Given the description of an element on the screen output the (x, y) to click on. 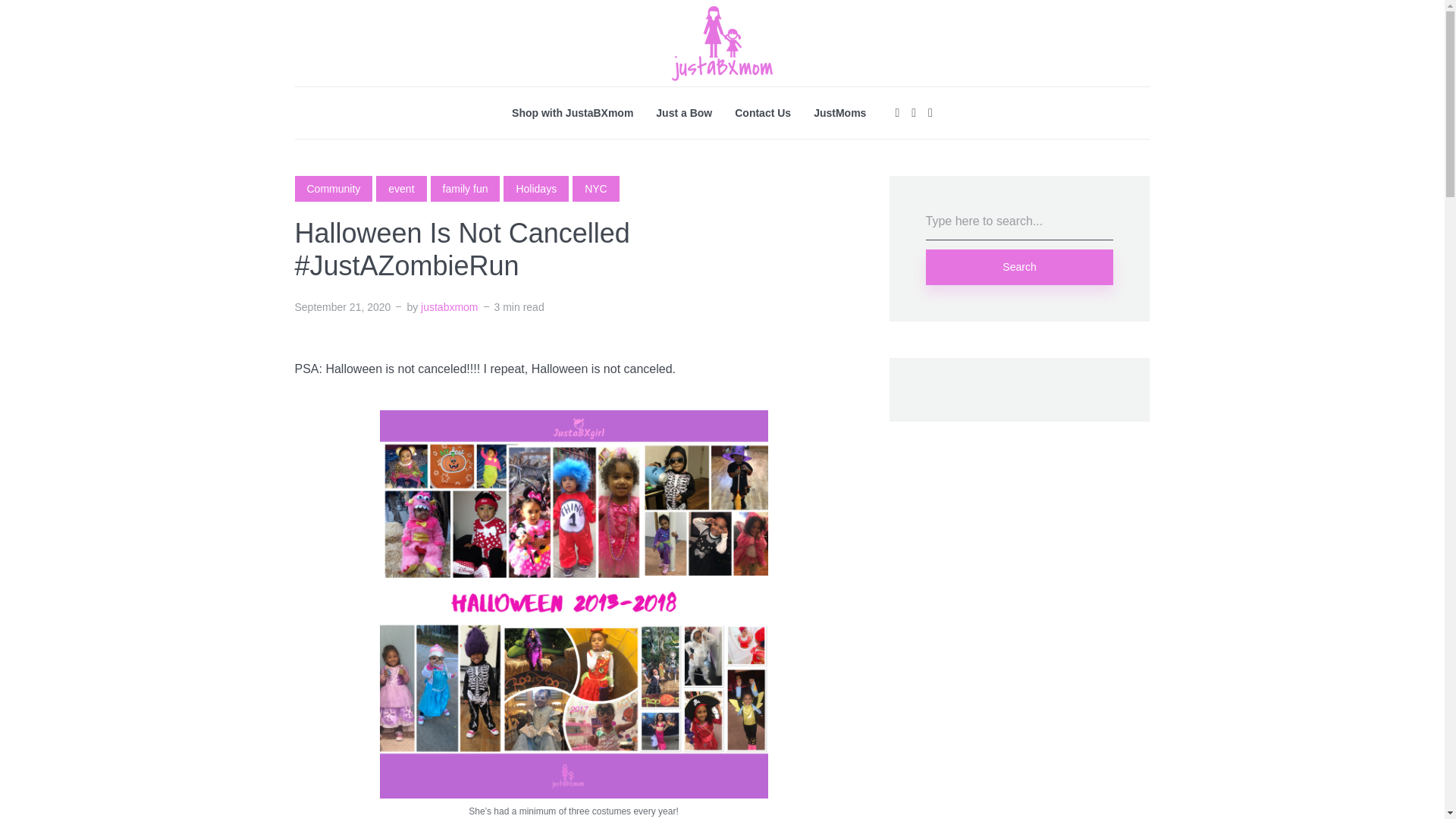
Holidays (536, 188)
event (400, 188)
Shop with JustaBXmom (572, 112)
Just a Bow (683, 112)
family fun (465, 188)
JustMoms (839, 112)
Community (333, 188)
Contact Us (762, 112)
justabxmom (448, 306)
NYC (596, 188)
